Given the description of an element on the screen output the (x, y) to click on. 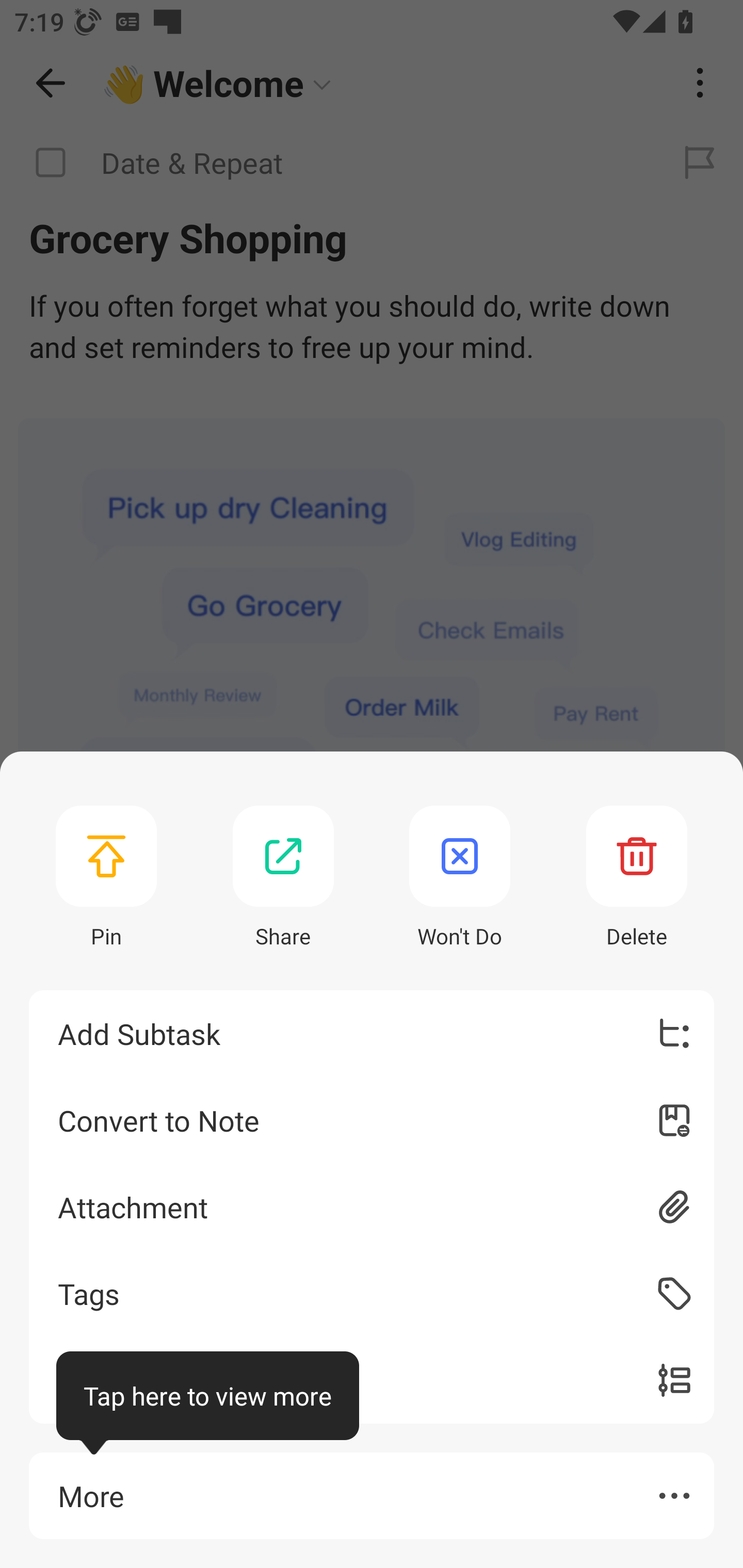
Pin (105, 877)
Share (282, 877)
Won't Do (459, 877)
Delete (636, 877)
Add Subtask (371, 1033)
Convert to Note (371, 1120)
Attachment (371, 1206)
Tags (371, 1293)
Task Activities (371, 1380)
More (371, 1495)
